Given the description of an element on the screen output the (x, y) to click on. 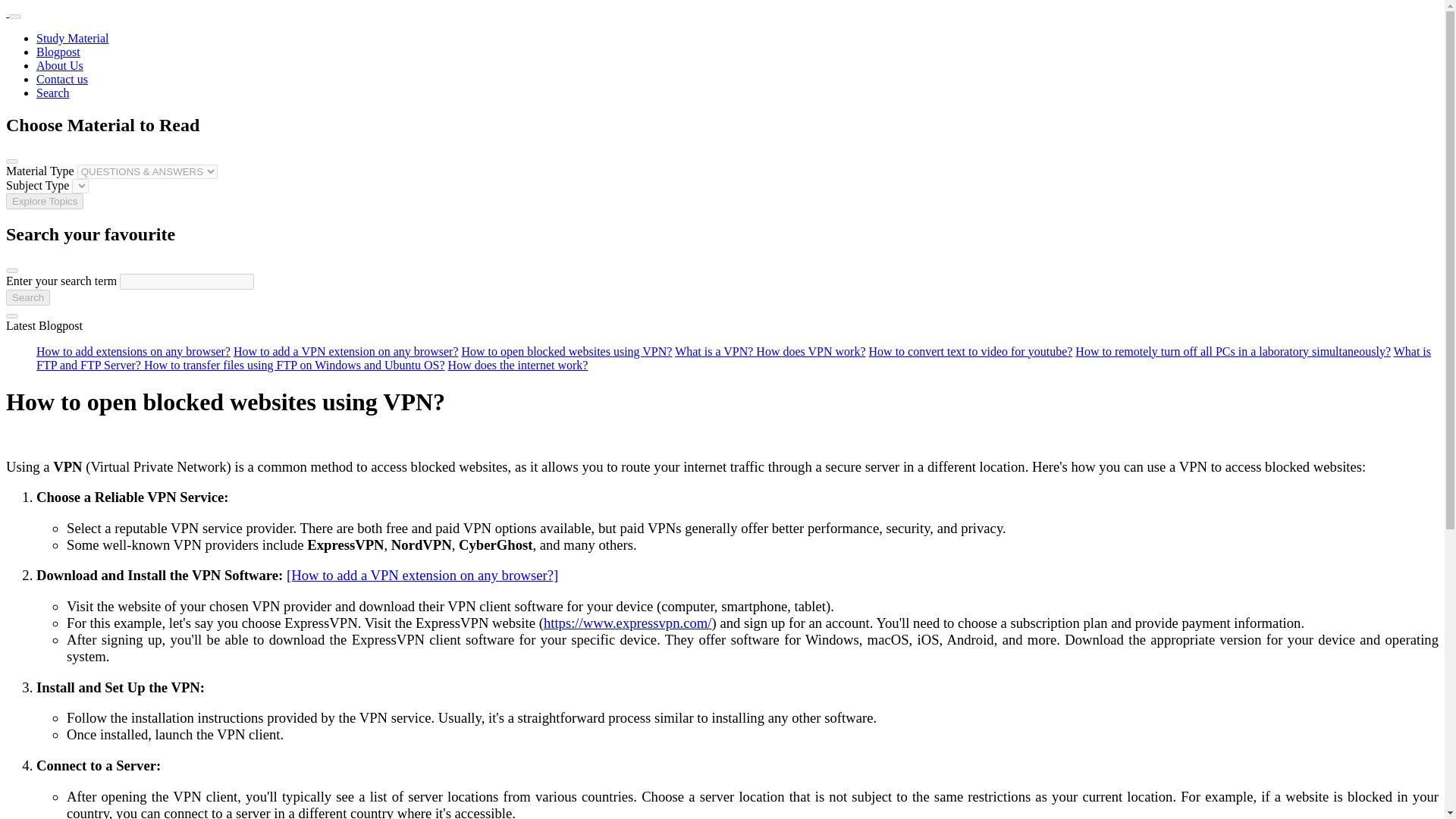
Explore Topics (43, 201)
Search (27, 297)
How to convert text to video for youtube? (971, 350)
Blogpost (58, 51)
How to open blocked websites using VPN? (566, 350)
Study Material (72, 38)
How does the internet work? (518, 364)
What is a VPN? How does VPN work? (769, 350)
Contact us (61, 78)
Search (52, 92)
